Given the description of an element on the screen output the (x, y) to click on. 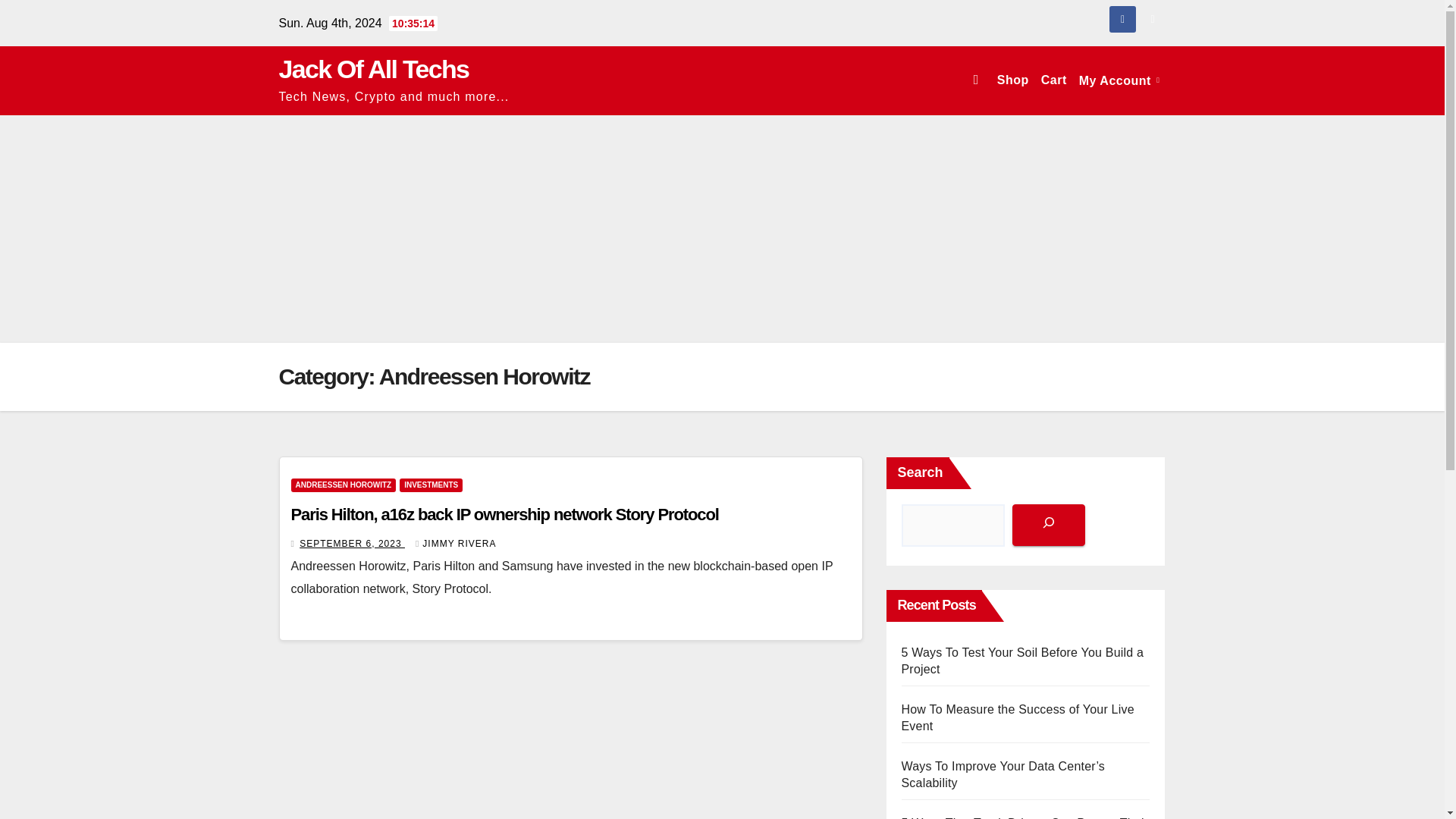
My Account (1119, 80)
My account (1119, 80)
Jack Of All Techs (373, 68)
How To Measure the Success of Your Live Event (1017, 717)
ANDREESSEN HOROWITZ (343, 485)
INVESTMENTS (430, 485)
Paris Hilton, a16z back IP ownership network Story Protocol (505, 514)
SEPTEMBER 6, 2023 (351, 543)
JIMMY RIVERA (455, 543)
